Given the description of an element on the screen output the (x, y) to click on. 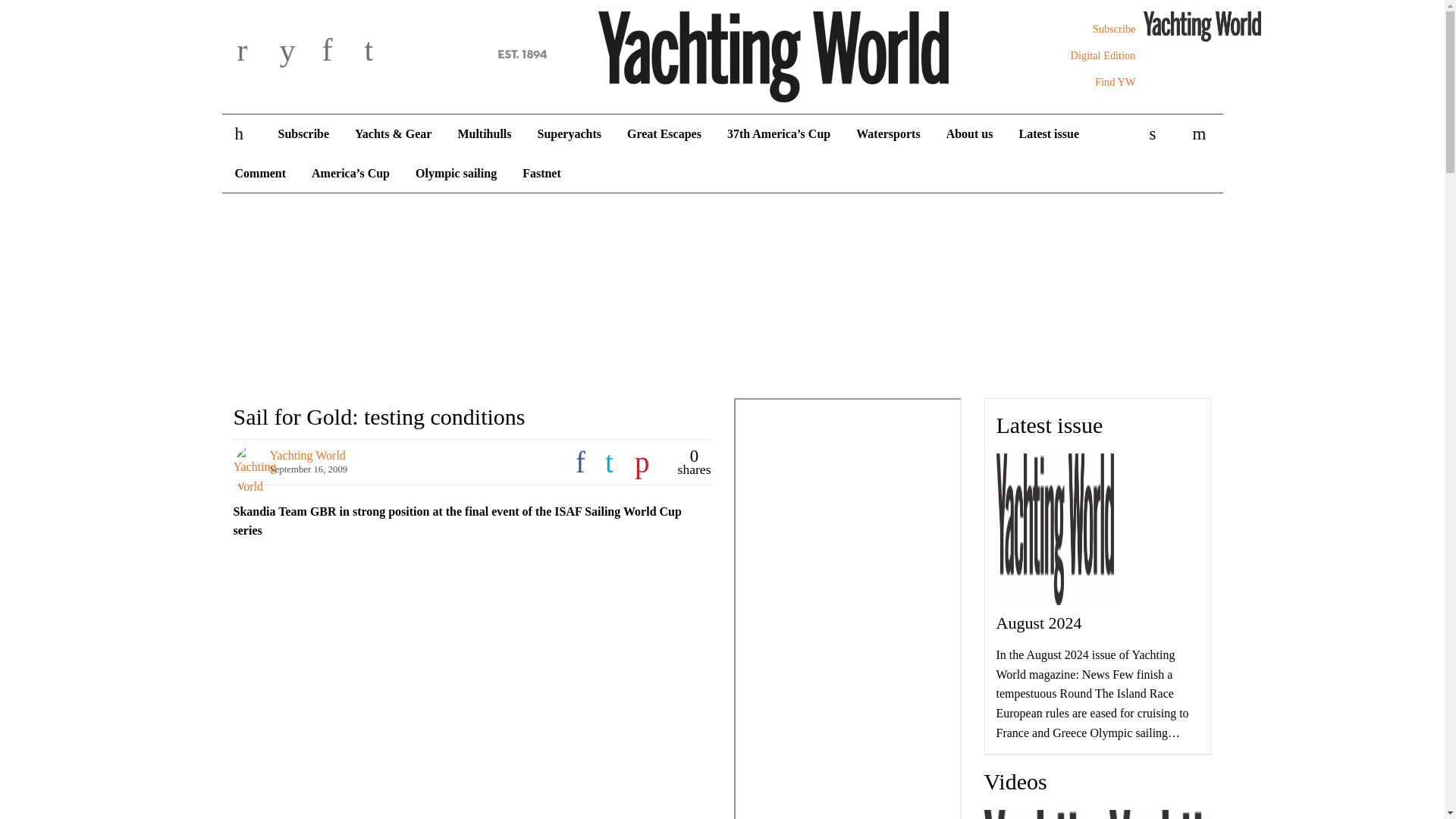
Digital Edition (1102, 55)
Subscribe (303, 133)
Yachting World (721, 53)
Find YW (1114, 81)
Subscribe (1114, 28)
Superyachts (569, 133)
Great Escapes (664, 133)
Find YW (1114, 81)
Multihulls (484, 133)
Yachting World (721, 53)
